Given the description of an element on the screen output the (x, y) to click on. 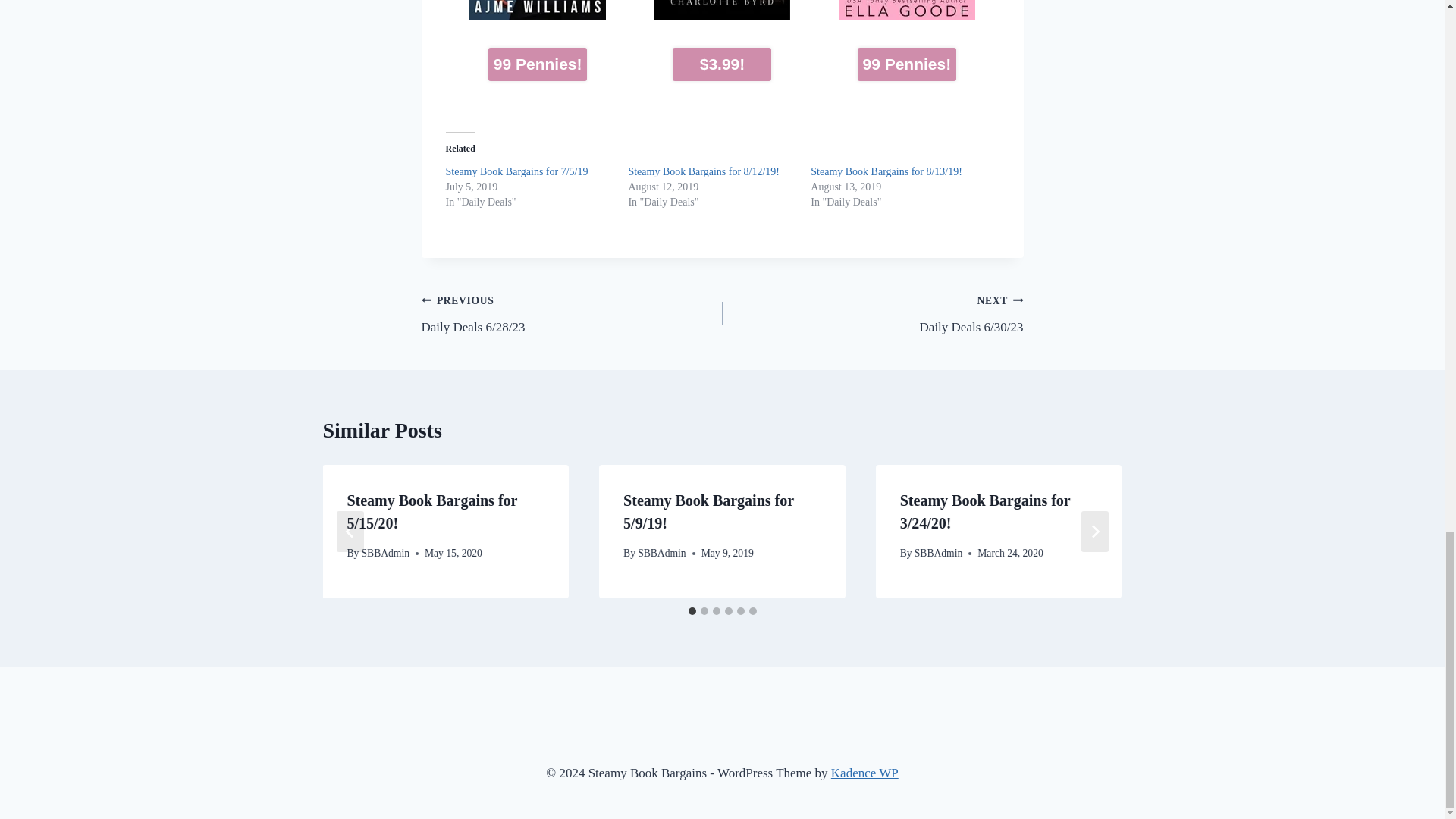
99 Pennies! (536, 64)
99 Pennies! (906, 64)
99 Pennies! (537, 49)
99 Pennies! (906, 49)
